Given the description of an element on the screen output the (x, y) to click on. 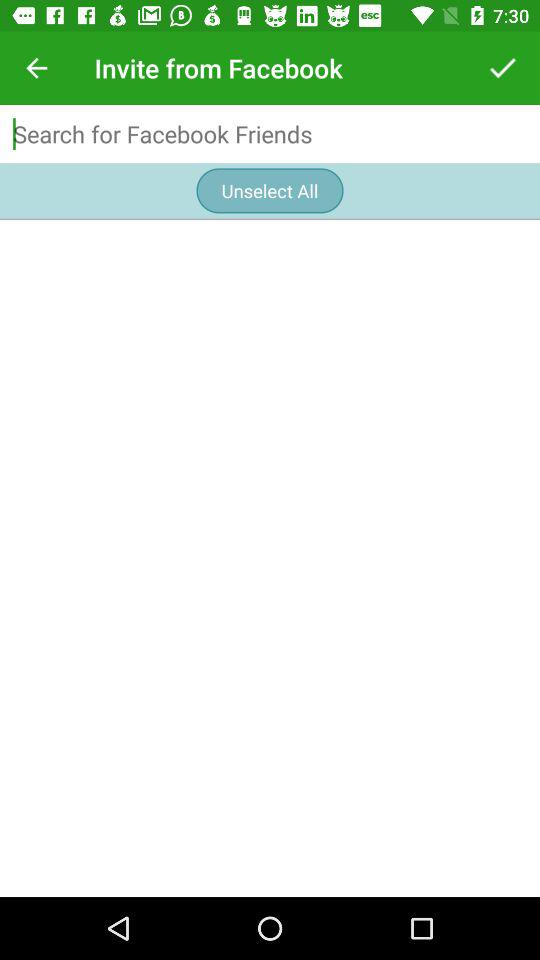
click unselect all (269, 190)
